Given the description of an element on the screen output the (x, y) to click on. 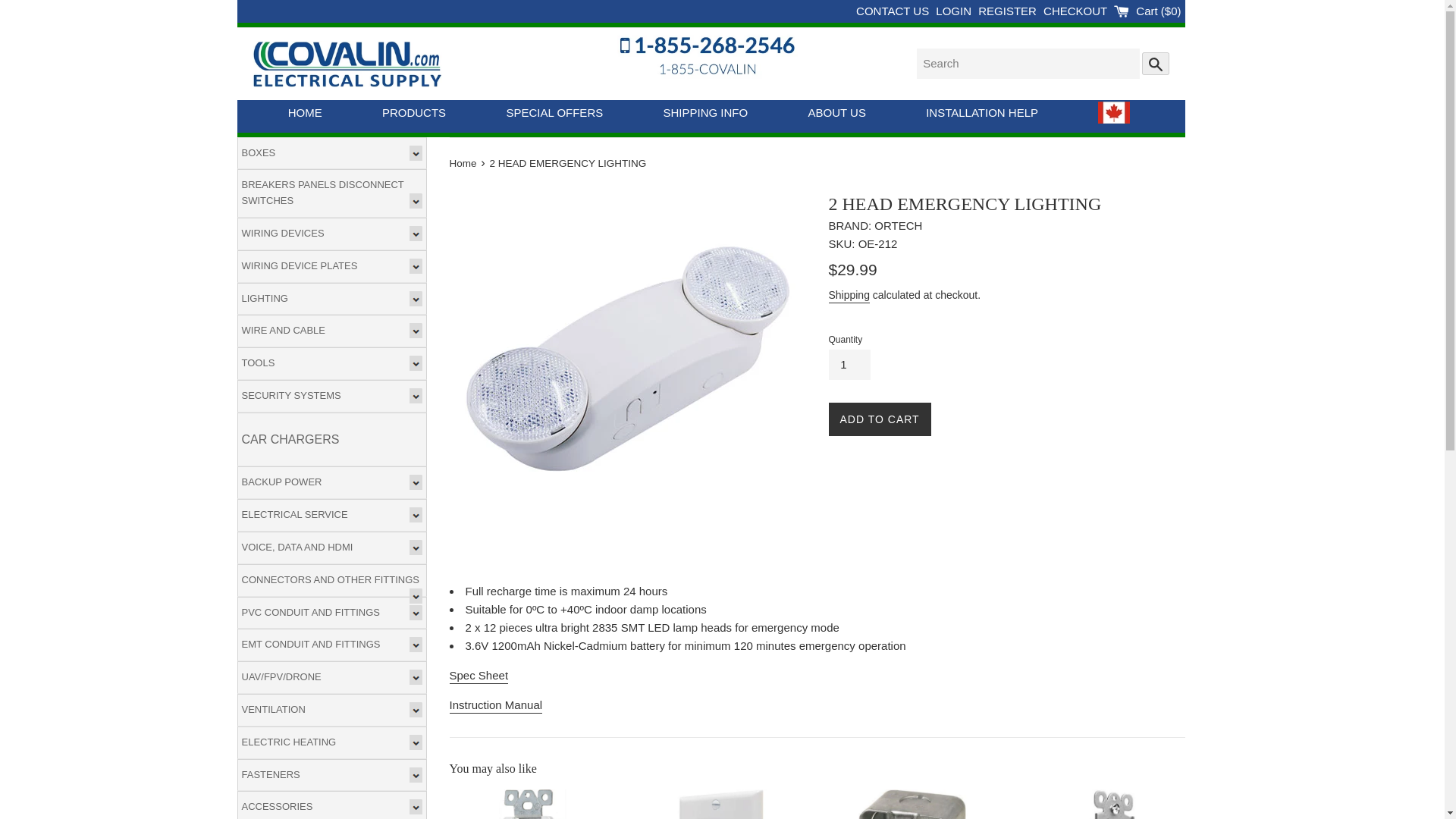
SHIPPING INFO (705, 116)
SPECIAL OFFERS (553, 116)
Back to the frontpage (463, 163)
VISTA 15A DECORATIVE SWITCH SINGLE POLE - WHITE (1101, 804)
PRODUCTS (413, 116)
CONTACT US (893, 10)
LOGIN (955, 10)
ABOUT US (837, 116)
HOME (304, 116)
